Given the description of an element on the screen output the (x, y) to click on. 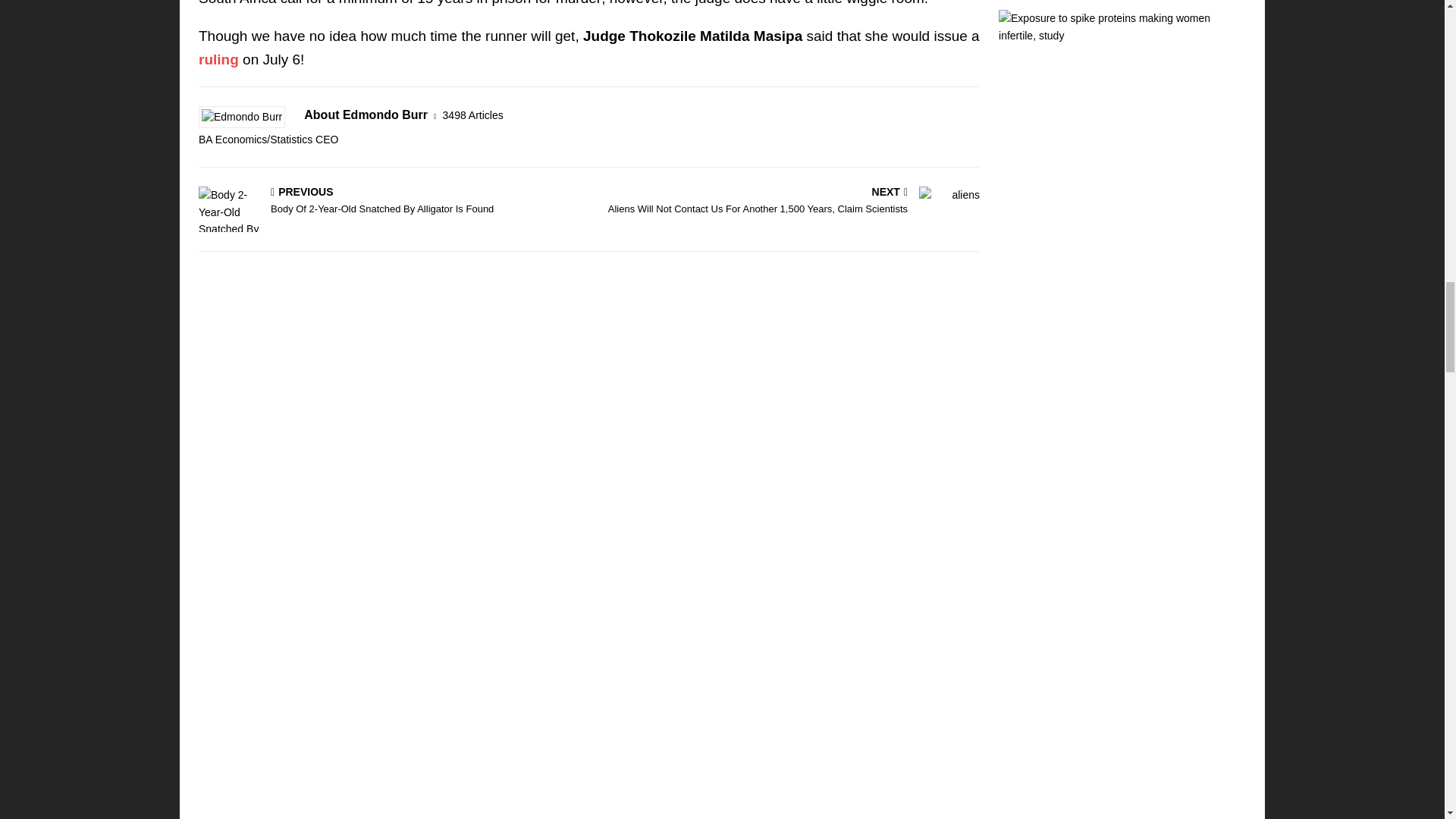
More articles written by Edmondo Burr' (472, 115)
